Given the description of an element on the screen output the (x, y) to click on. 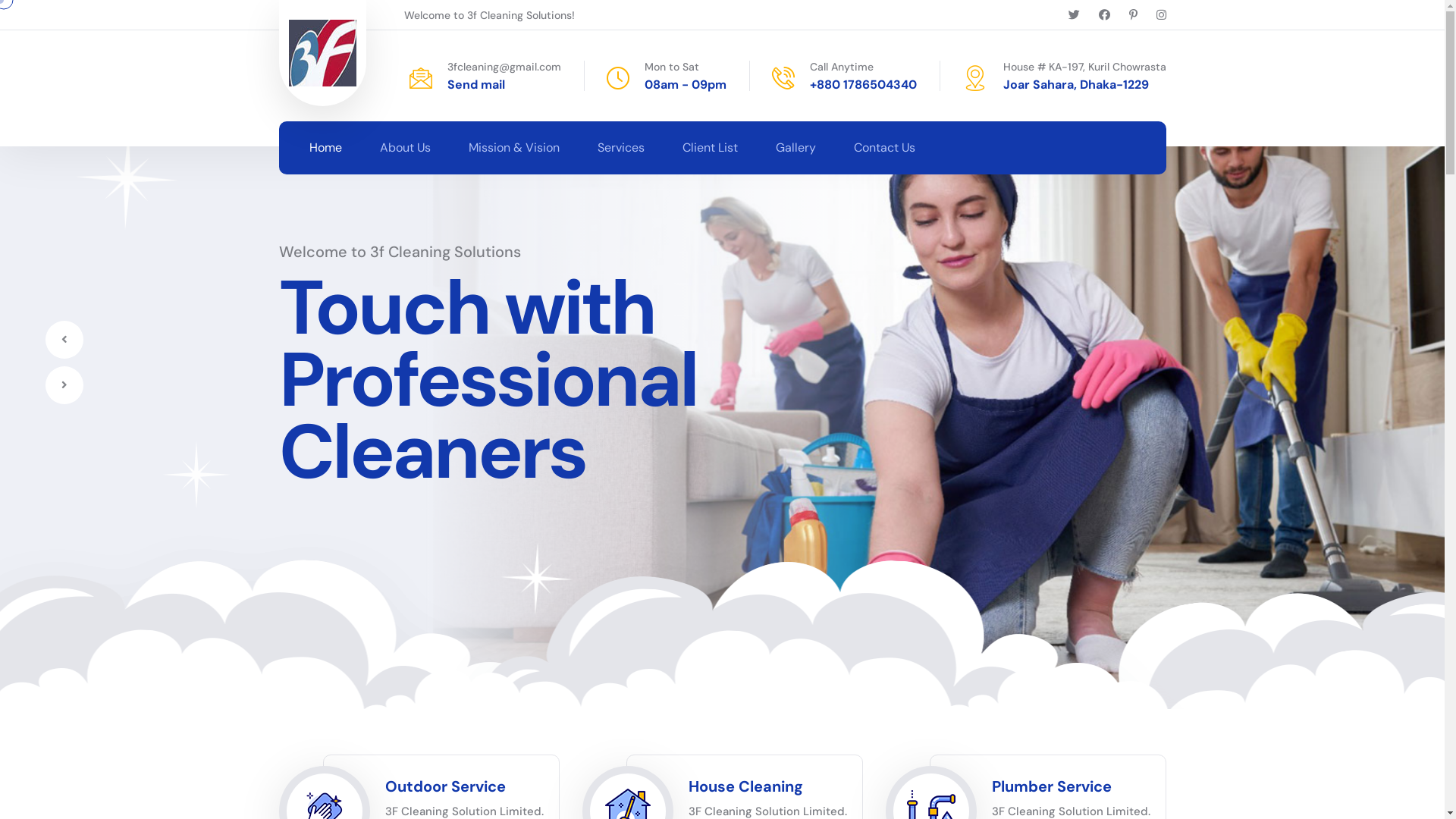
Home Element type: text (325, 147)
3f Cleaning Solutions Element type: hover (126, 178)
3f Cleaning Solutions Element type: hover (321, 52)
3f Cleaning Solutions Element type: hover (536, 578)
3f Cleaning Solutions Element type: hover (533, 575)
Plumber Service Element type: text (1051, 786)
Gallery Element type: text (795, 147)
Mission & Vision Element type: text (513, 147)
Client List Element type: text (709, 147)
Outdoor Service Element type: text (445, 786)
3f Cleaning Solutions Element type: hover (121, 173)
3f Cleaning Solutions Element type: hover (122, 173)
House Cleaning Element type: text (745, 786)
About Us Element type: text (404, 147)
3f Cleaning Solutions Element type: hover (202, 481)
3f Cleaning Solutions Element type: hover (532, 574)
3f Cleaning Solutions Element type: hover (196, 474)
+880 1786504340 Element type: text (862, 84)
3fcleaning@gmail.com Element type: text (504, 66)
3f Cleaning Solutions Element type: hover (203, 481)
Contact Us Element type: text (884, 147)
Services Element type: text (620, 147)
